Given the description of an element on the screen output the (x, y) to click on. 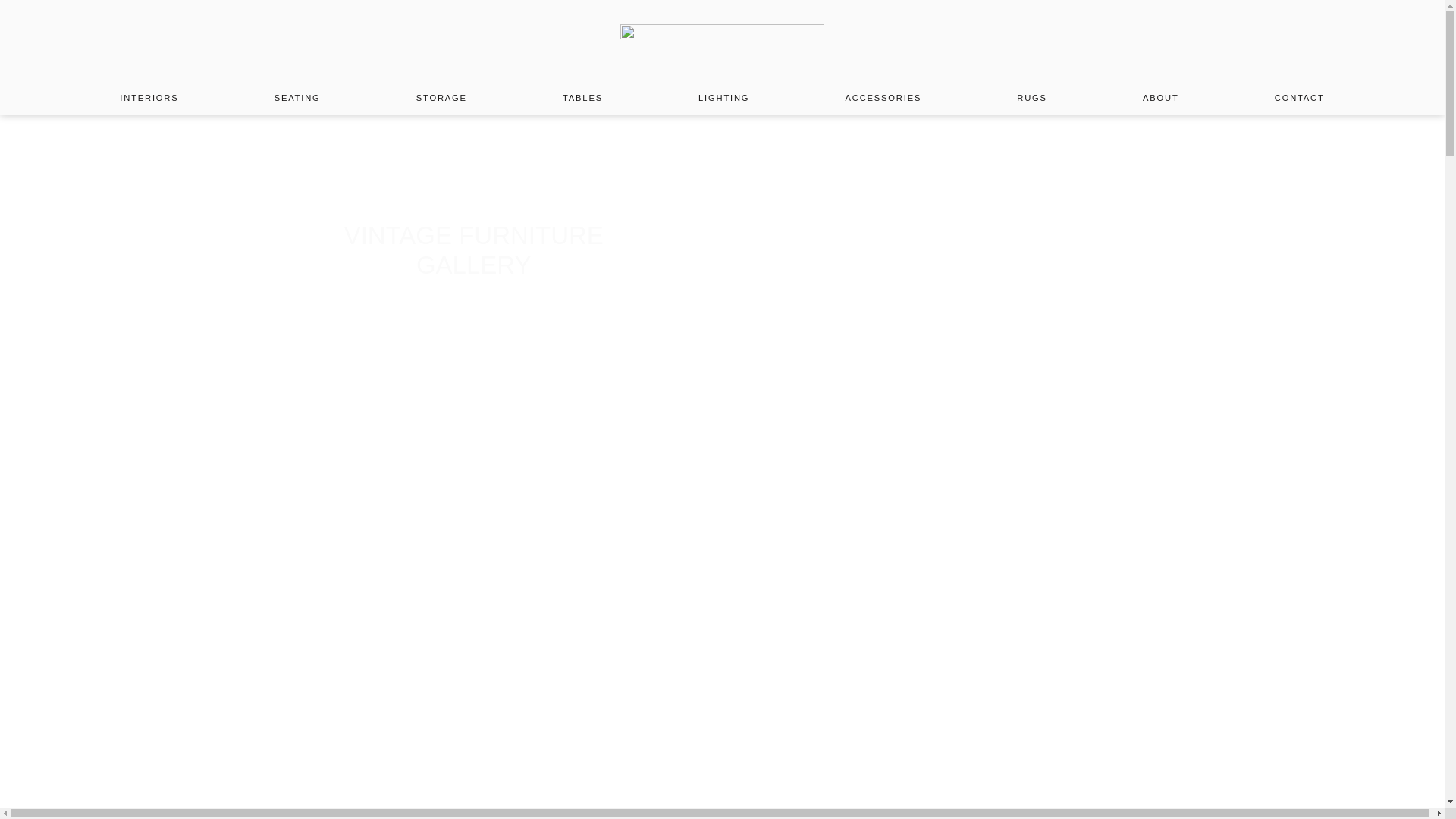
GALLERY (1010, 229)
SEATING (297, 97)
ACCESSORIES (882, 97)
INTERIORS (148, 97)
TABLES (582, 97)
LIGHTING (723, 97)
STORAGE (441, 97)
ABOUT (1160, 97)
RUGS (1031, 97)
CONTACT (1300, 97)
